Given the description of an element on the screen output the (x, y) to click on. 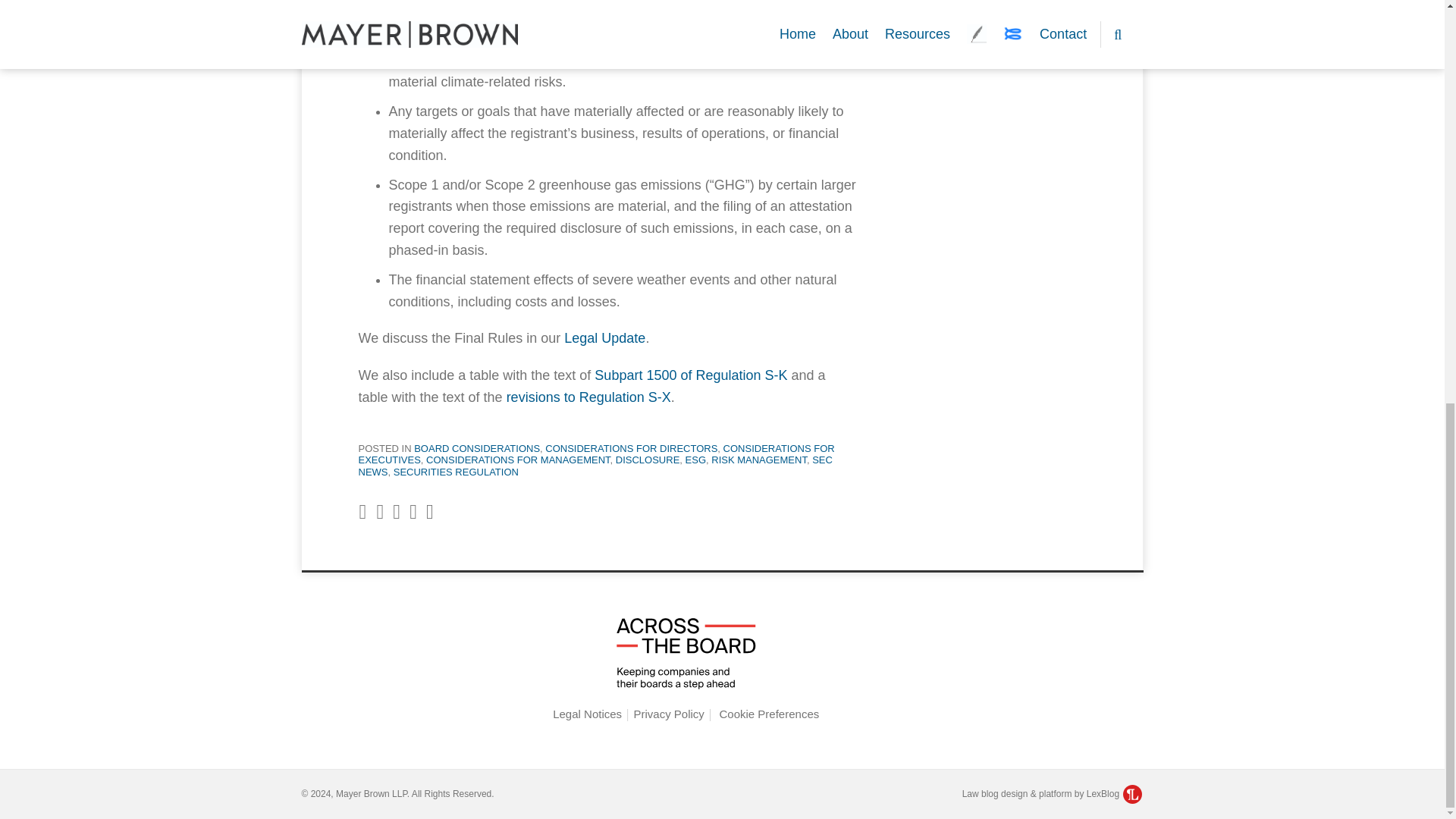
ESG (695, 460)
BOARD CONSIDERATIONS (476, 448)
RISK MANAGEMENT (758, 460)
CONSIDERATIONS FOR EXECUTIVES (596, 454)
SEC NEWS (594, 465)
CONSIDERATIONS FOR DIRECTORS (630, 448)
Legal Update (604, 337)
Subpart 1500 of Regulation S-K (690, 375)
LexBlog Logo (1131, 793)
DISCLOSURE (647, 460)
SECURITIES REGULATION (455, 471)
revisions to Regulation S-X (588, 396)
CONSIDERATIONS FOR MANAGEMENT (518, 460)
